Given the description of an element on the screen output the (x, y) to click on. 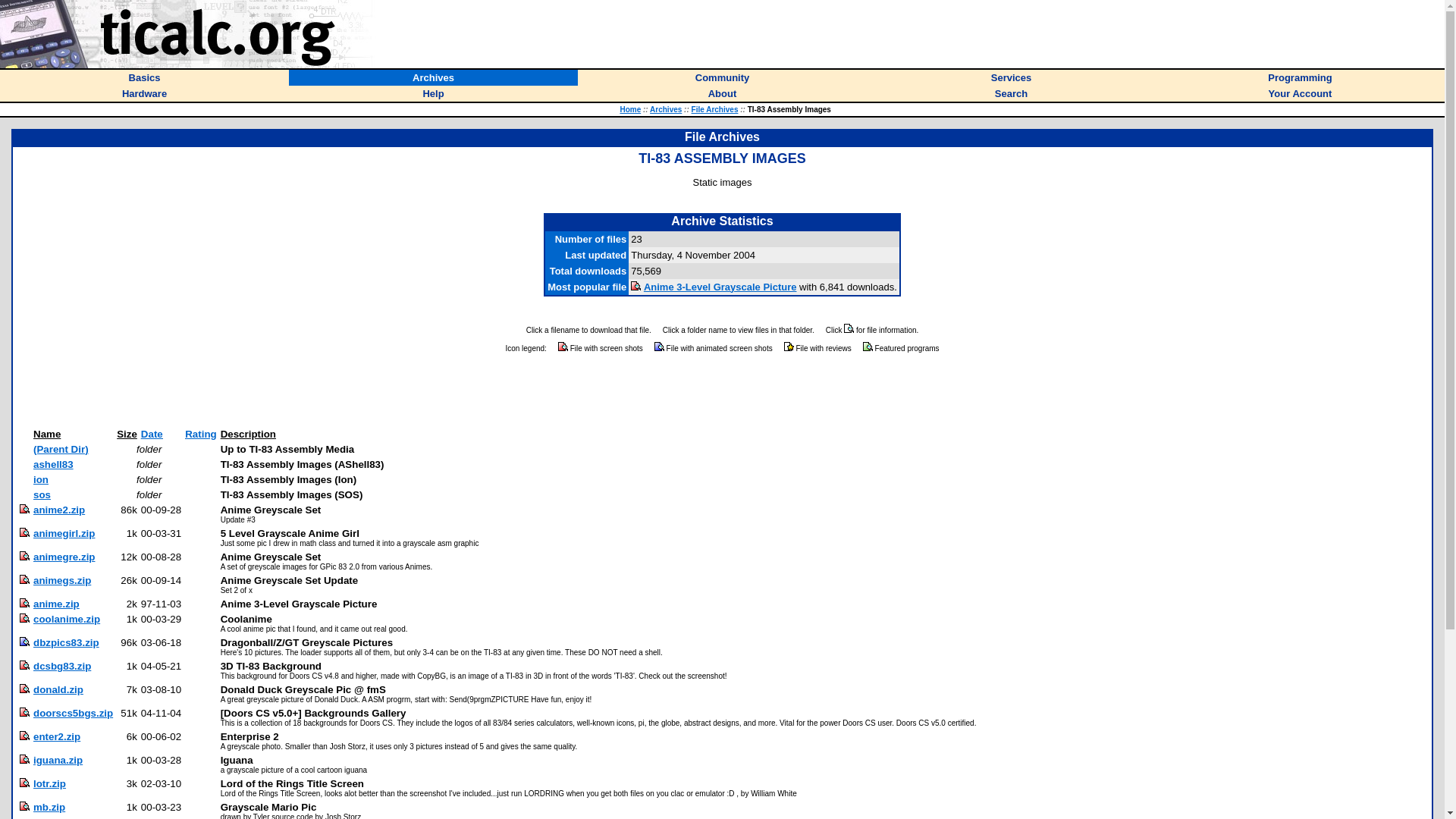
anime.zip (56, 603)
About (721, 92)
animegirl.zip (63, 532)
Programming (1300, 76)
Your Account (1300, 92)
sos (41, 494)
ashell83 (53, 464)
Help (433, 92)
animegre.zip (63, 556)
Rating (199, 433)
Home (630, 109)
ion (40, 479)
Services (1011, 76)
File Archives (714, 109)
Archives (433, 76)
